Given the description of an element on the screen output the (x, y) to click on. 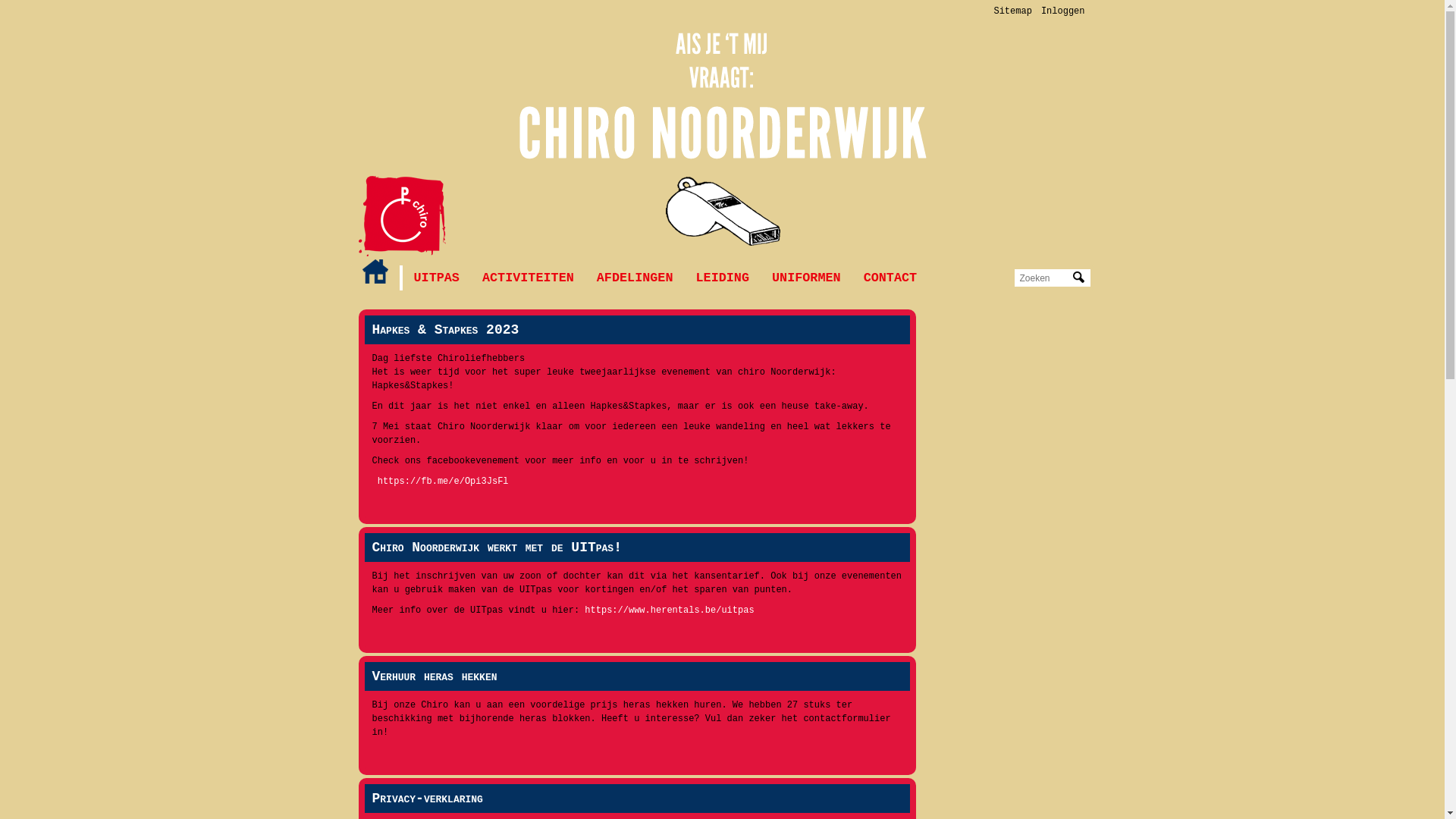
Geef de woorden op waarnaar u wilt zoeken. Element type: hover (1043, 277)
Sitemap Element type: text (1012, 11)
CONTACT Element type: text (890, 278)
Inloggen Element type: text (1063, 11)
https://fb.me/e/Opi3JsFl Element type: text (442, 481)
UITPAS Element type: text (435, 278)
AFDELINGEN Element type: text (634, 278)
https://www.herentals.be/uitpas Element type: text (668, 610)
ACTIVITEITEN Element type: text (527, 278)
Home Element type: hover (401, 215)
Jump to navigation Element type: text (722, 2)
UNIFORMEN Element type: text (806, 278)
LEIDING Element type: text (722, 278)
NIEUWS Element type: text (374, 271)
